Given the description of an element on the screen output the (x, y) to click on. 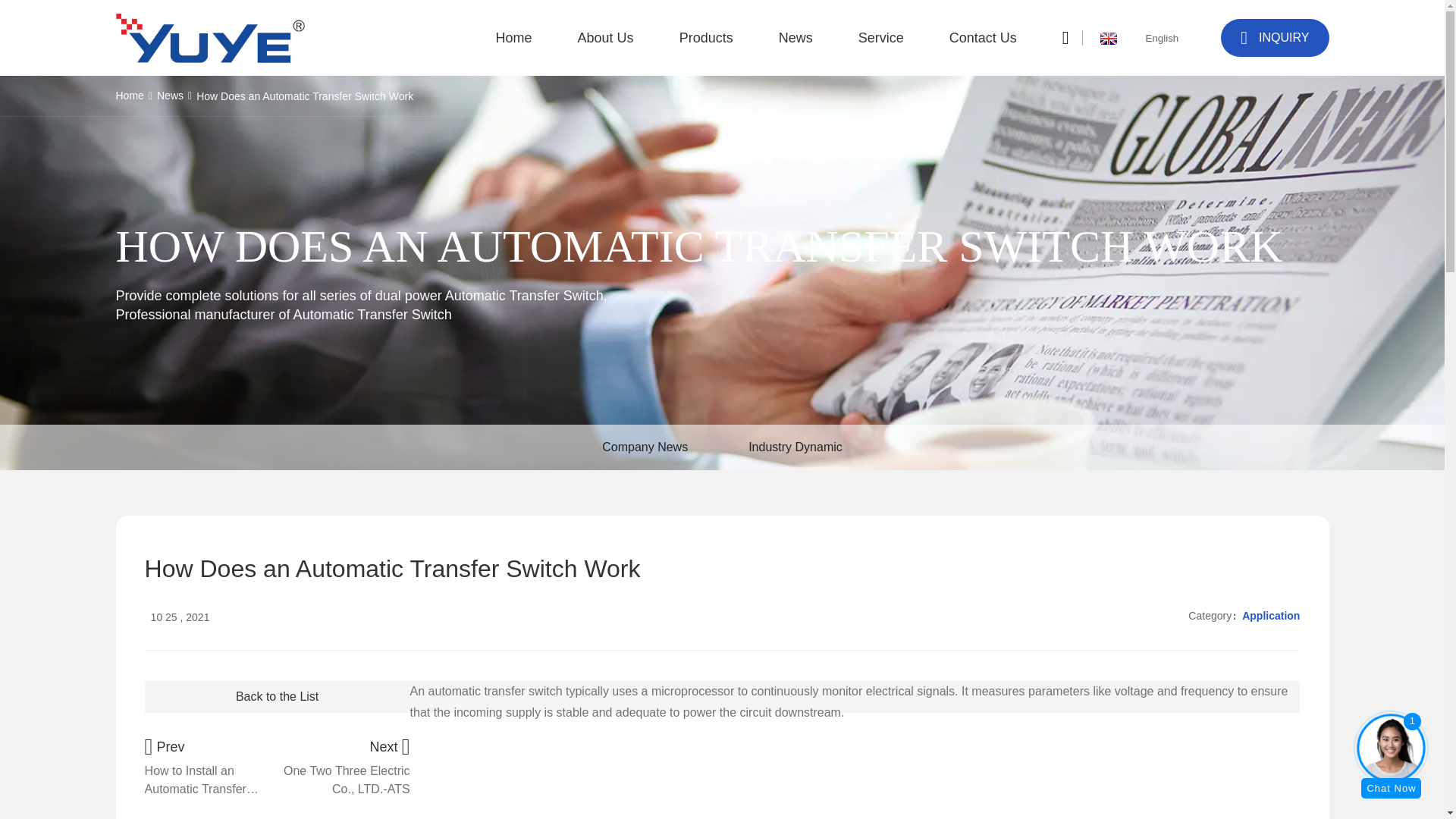
Products (706, 37)
123 Electric Co,.Ltd (209, 38)
Home (514, 37)
Prev (208, 766)
About Us (605, 37)
Next (346, 766)
YUYE CB ats (691, 771)
